Given the description of an element on the screen output the (x, y) to click on. 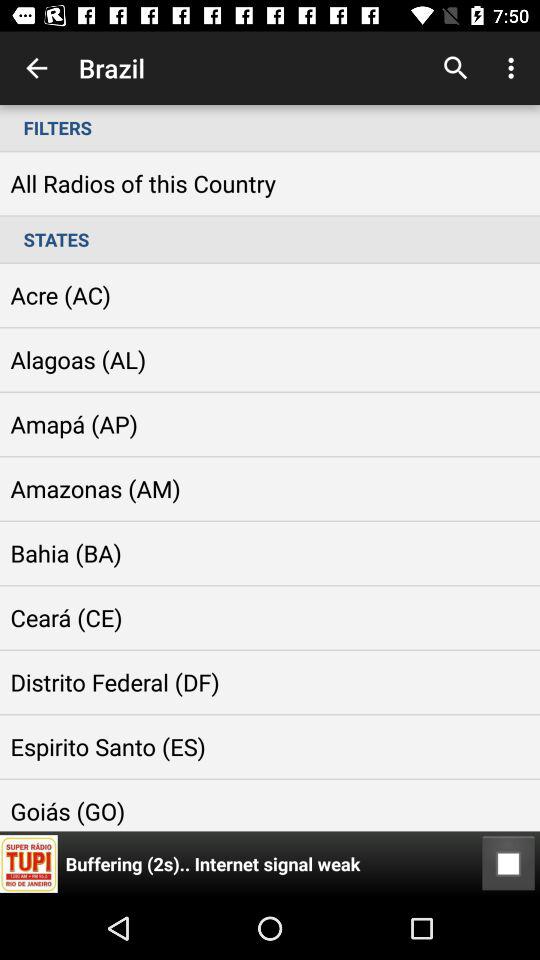
select the app next to the brazil item (36, 68)
